Given the description of an element on the screen output the (x, y) to click on. 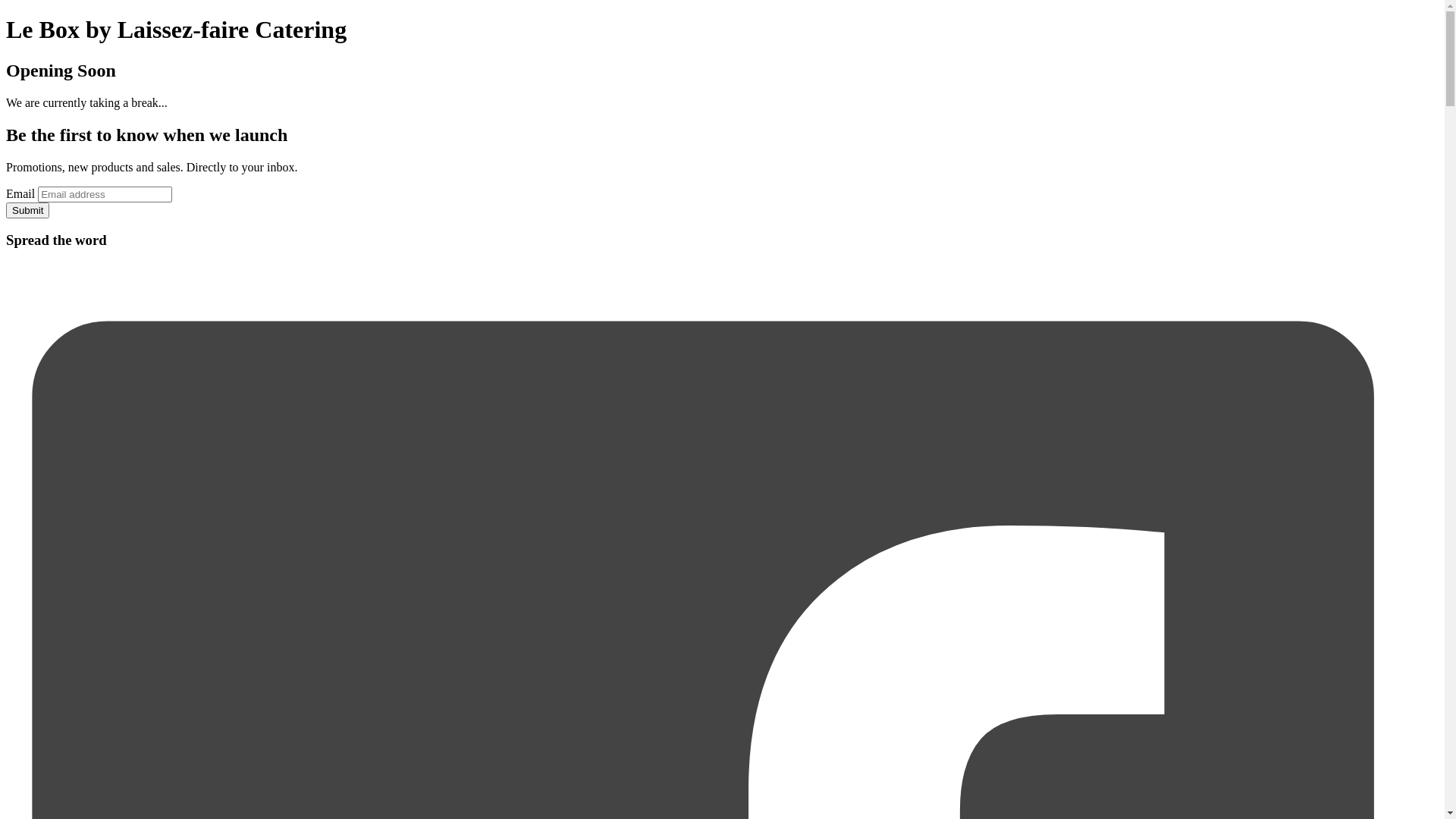
Submit Element type: text (27, 210)
